Given the description of an element on the screen output the (x, y) to click on. 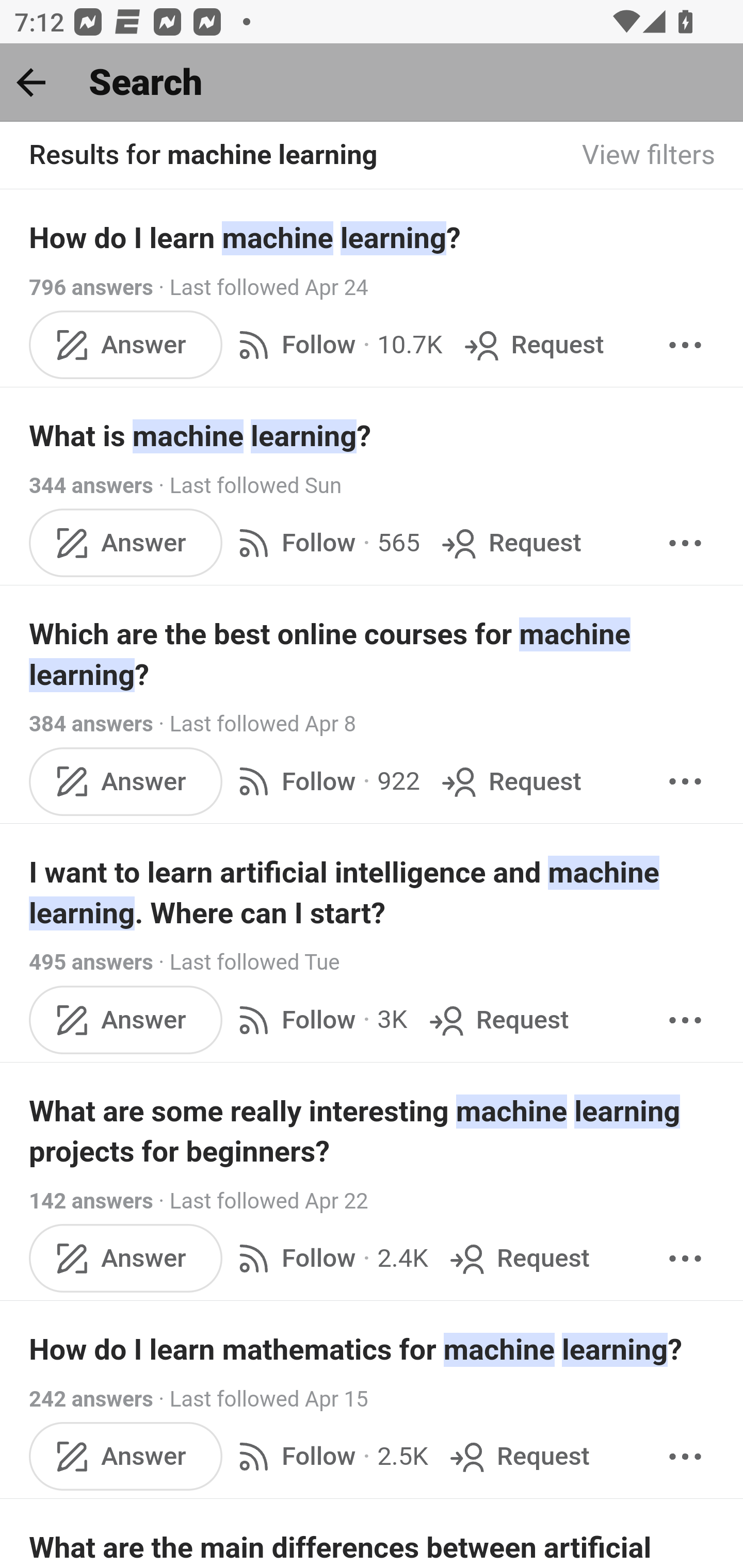
Back Search (371, 82)
Back (30, 82)
View filters (648, 155)
How do I learn machine learning? (372, 237)
796 answers 796  answers (90, 287)
Answer (125, 343)
Follow · 10.7K (336, 343)
Request (532, 343)
More (684, 343)
What is machine learning? (372, 436)
344 answers 344  answers (90, 484)
Answer (125, 543)
Follow · 565 (324, 543)
Request (509, 543)
More (684, 543)
384 answers 384  answers (90, 723)
Answer (125, 781)
Follow · 922 (324, 781)
Request (509, 781)
More (684, 781)
495 answers 495  answers (90, 962)
Answer (125, 1019)
Follow · 3K (318, 1019)
Request (496, 1019)
More (684, 1019)
142 answers 142  answers (90, 1200)
Answer (125, 1258)
Follow · 2.4K (329, 1258)
Request (517, 1258)
More (684, 1258)
How do I learn mathematics for machine learning? (372, 1349)
242 answers 242  answers (90, 1399)
Answer (125, 1456)
Follow · 2.5K (329, 1456)
Request (517, 1456)
More (684, 1456)
